Given the description of an element on the screen output the (x, y) to click on. 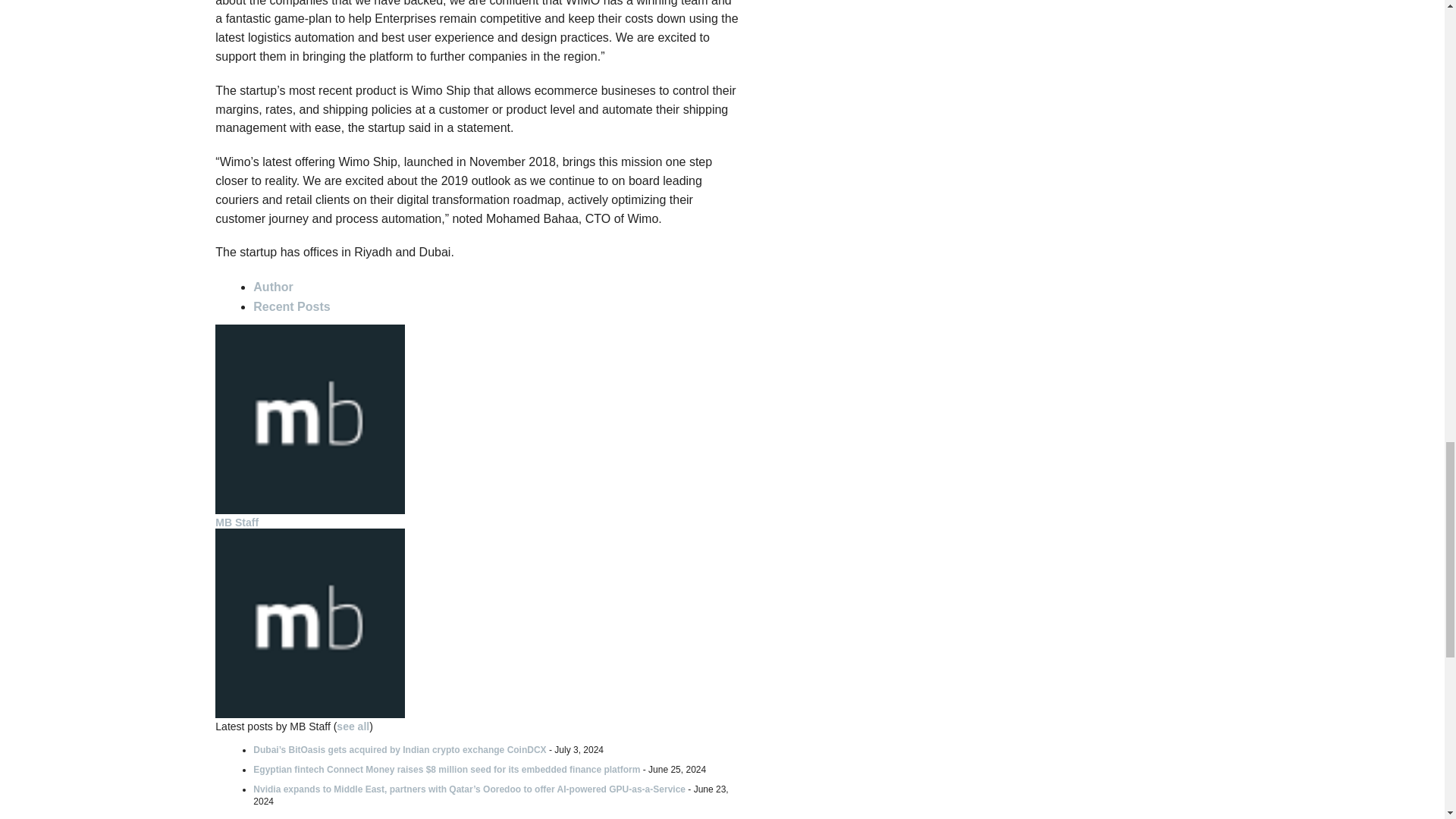
Author (272, 286)
MB Staff (237, 522)
Recent Posts (291, 306)
MB Staff (309, 713)
see all (352, 726)
MB Staff (309, 509)
